Given the description of an element on the screen output the (x, y) to click on. 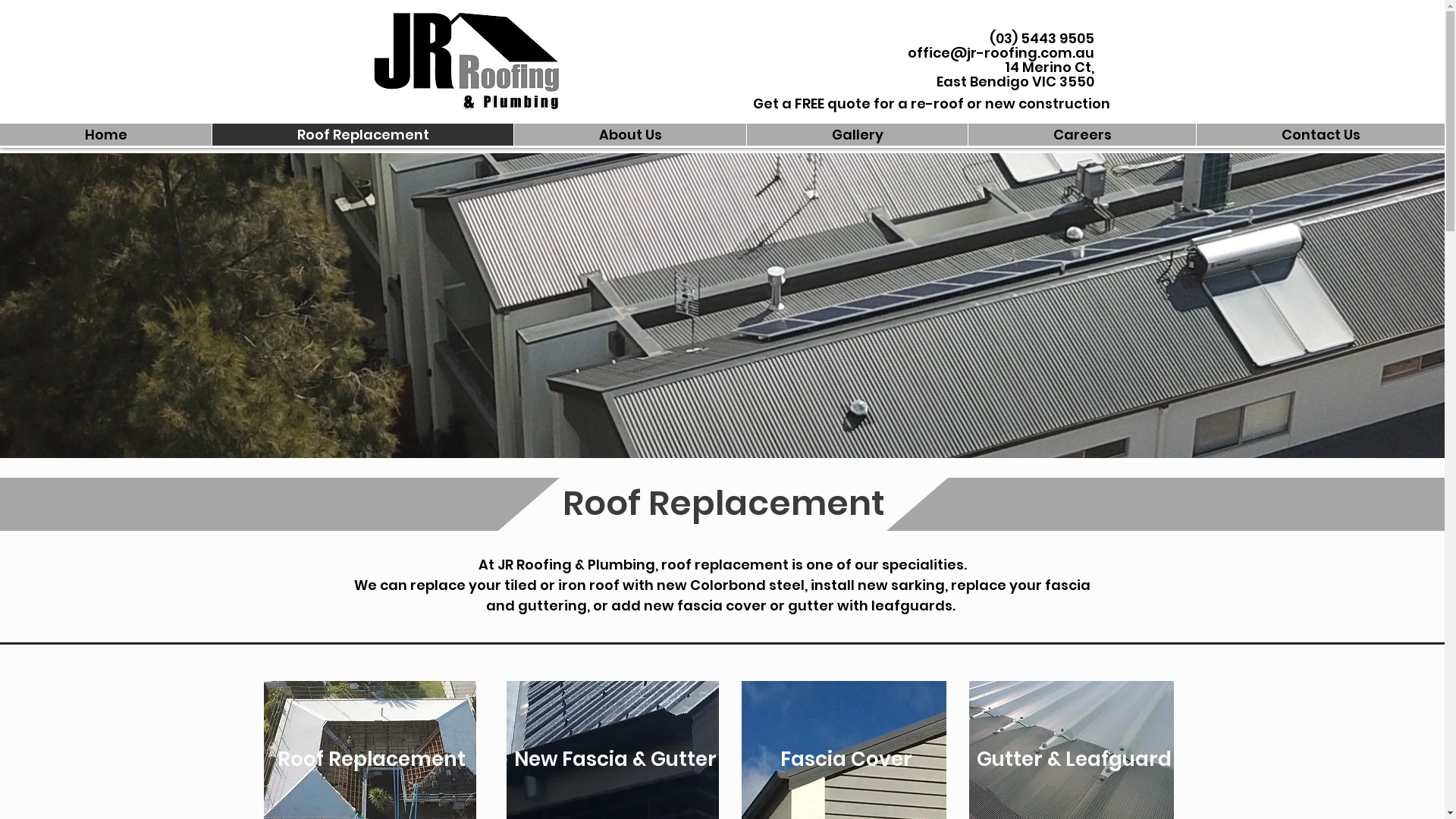
Roof Replacement Element type: text (371, 759)
Home Element type: text (105, 134)
Careers Element type: text (1081, 134)
Get a FREE quote for a re-roof or new construction Element type: text (930, 103)
Fascia Cover Element type: text (846, 759)
(03) 5443 9505 Element type: text (1040, 37)
New Fascia & Gutter Element type: text (615, 759)
Gallery Element type: text (856, 134)
About Us Element type: text (629, 134)
Contact Us Element type: text (1319, 134)
Roof Replacement Element type: text (362, 134)
office@jr-roofing.com.au Element type: text (999, 52)
Gutter & Leafguard Element type: text (1073, 759)
